Given the description of an element on the screen output the (x, y) to click on. 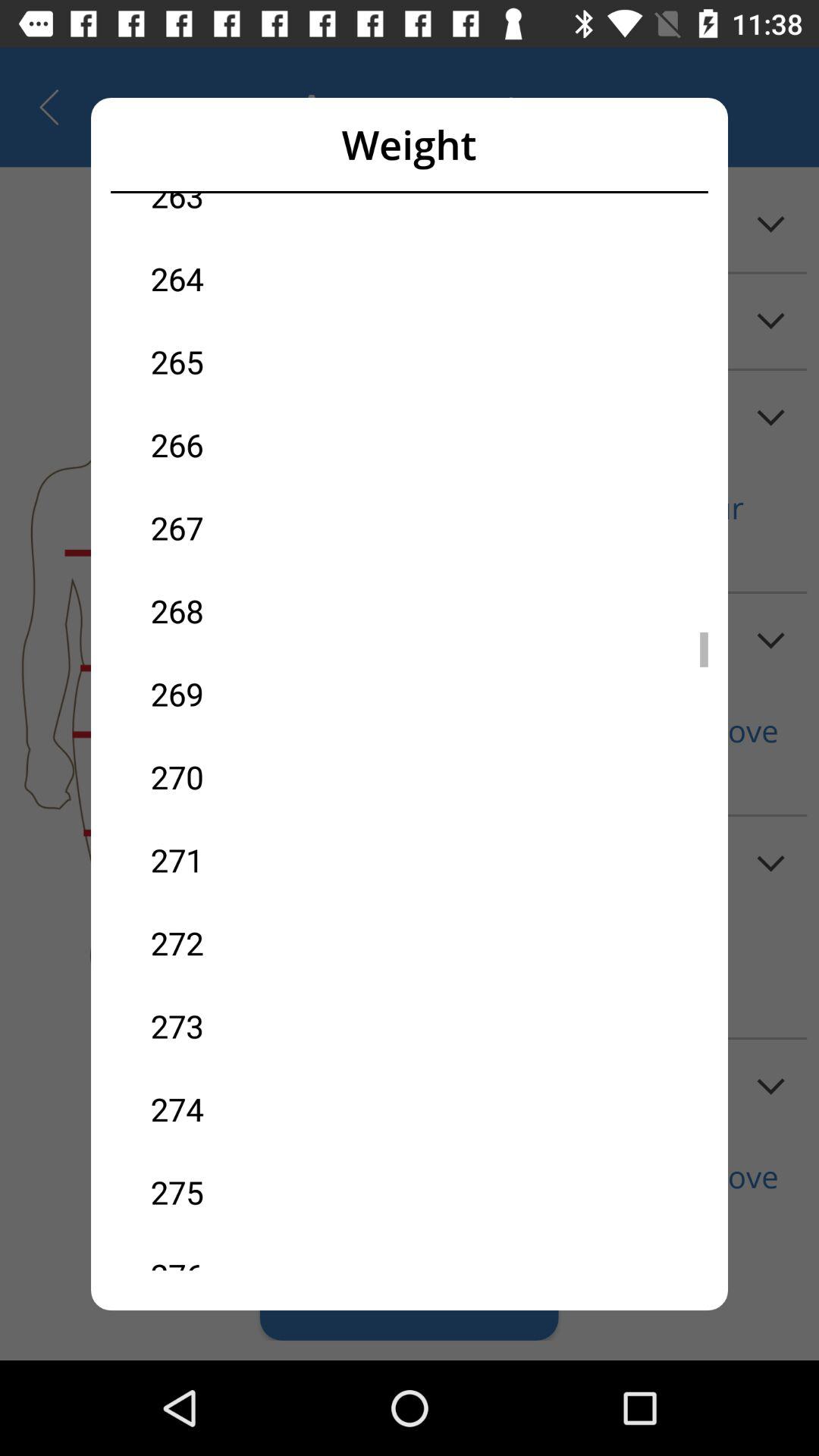
click item below the 273 icon (279, 1108)
